Given the description of an element on the screen output the (x, y) to click on. 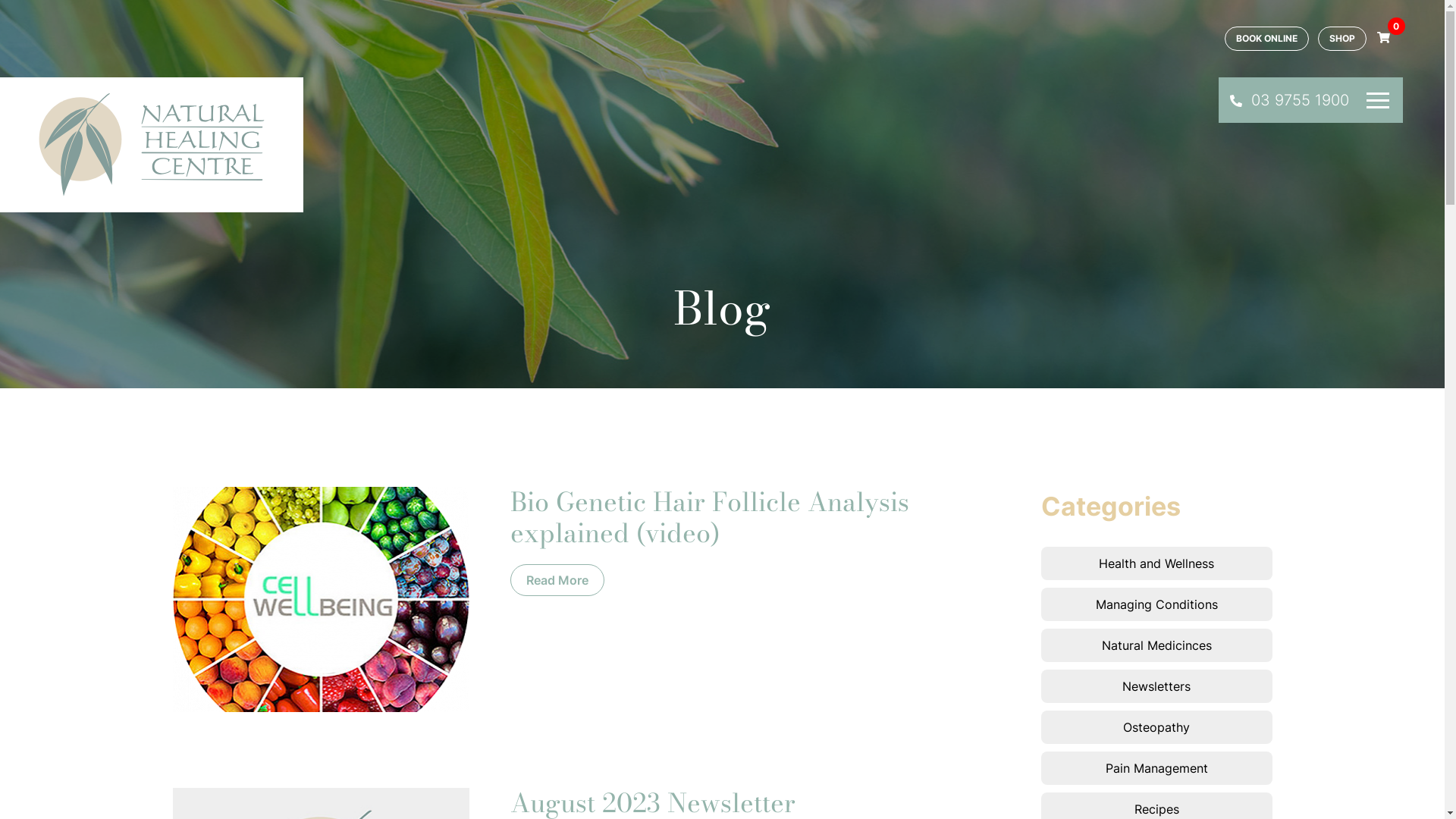
Read More Element type: text (557, 580)
BOOK ONLINE Element type: text (1265, 38)
Managing Conditions Element type: text (1156, 604)
0 Element type: text (1383, 38)
Newsletters Element type: text (1156, 685)
Bio Genetic Hair Follicle Analysis explained (video) Element type: text (709, 517)
03 9755 1900 Element type: text (1289, 99)
Natural Medicinces Element type: text (1156, 645)
SHOP Element type: text (1341, 38)
Health and Wellness Element type: text (1156, 563)
Osteopathy Element type: text (1156, 726)
Pain Management Element type: text (1156, 767)
